Given the description of an element on the screen output the (x, y) to click on. 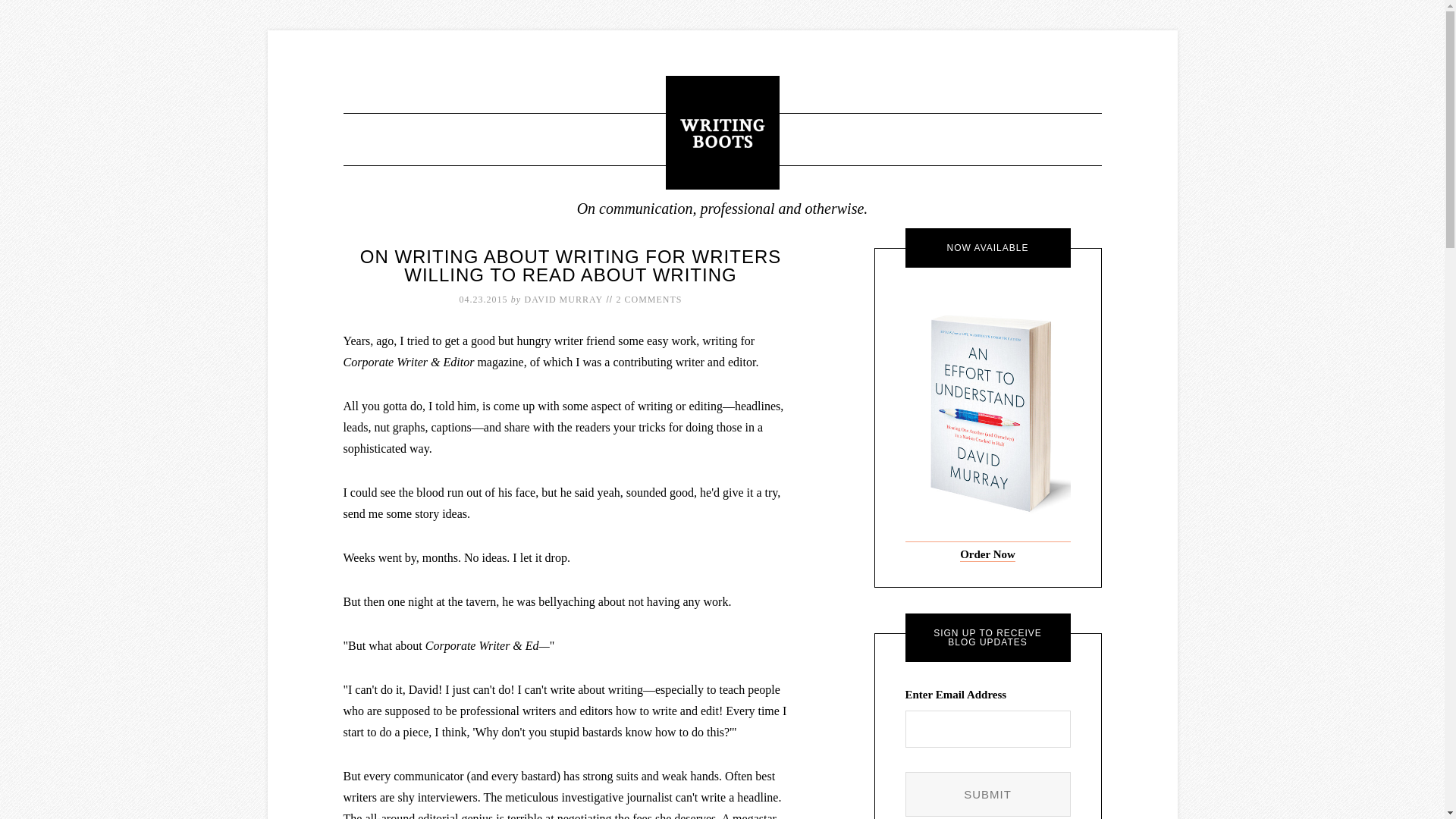
2 COMMENTS (648, 299)
DAVID MURRAY (563, 299)
An Effort to Understand (987, 535)
Submit (987, 794)
WRITING BOOTS (721, 132)
Order Now (986, 554)
An Effort to Understand (986, 554)
Submit (987, 794)
